Given the description of an element on the screen output the (x, y) to click on. 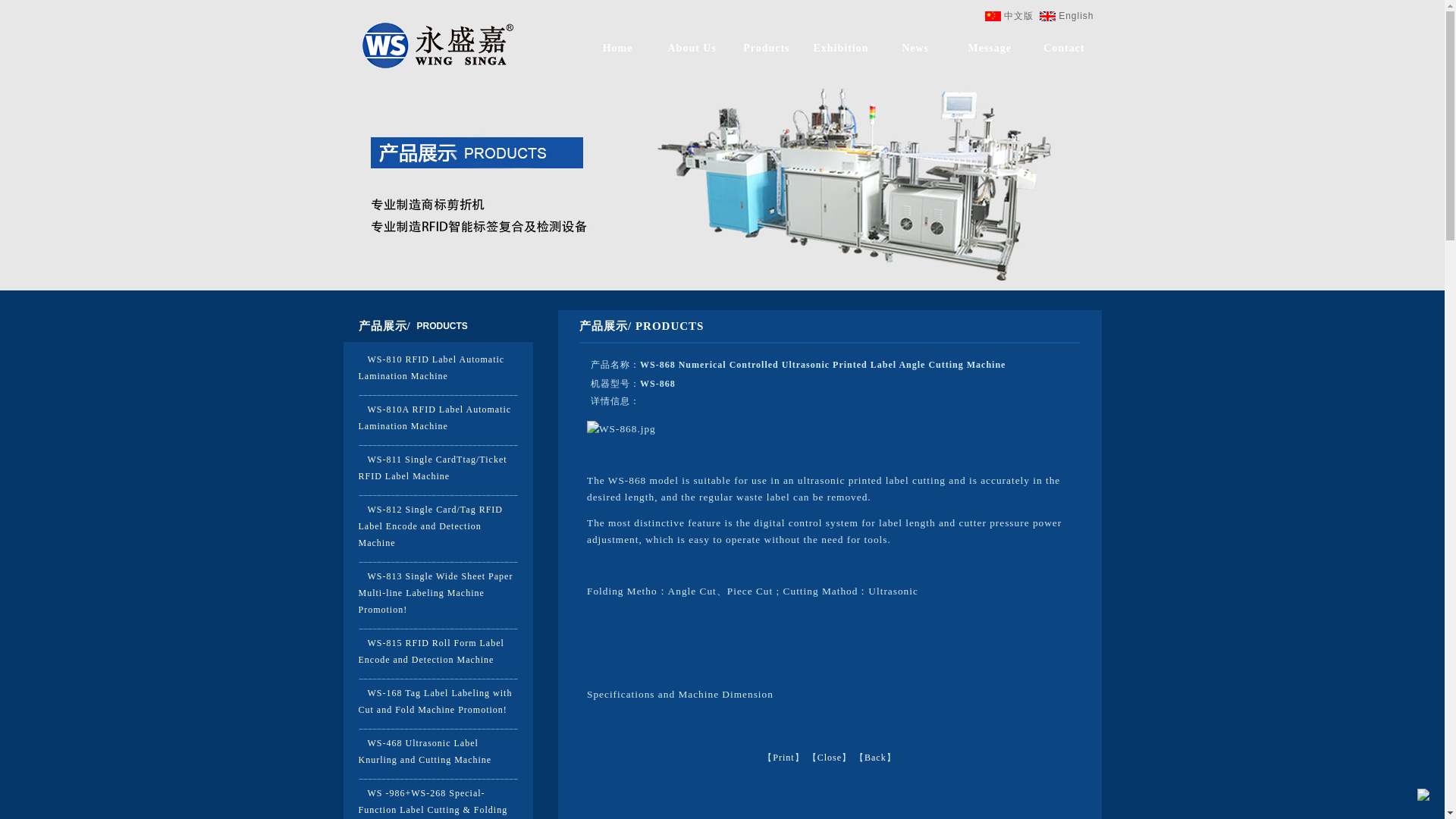
Products (765, 48)
WS-810A RFID Label Automatic Lamination Machine (434, 417)
Exhibition (840, 48)
WS-810 RFID Label Automatic Lamination Machine (430, 367)
WS-468 Ultrasonic Label Knurling and Cutting Machine (425, 750)
English (1075, 15)
News (915, 48)
Message (990, 48)
WS-815 RFID Roll Form Label Encode and Detection Machine (430, 651)
